Given the description of an element on the screen output the (x, y) to click on. 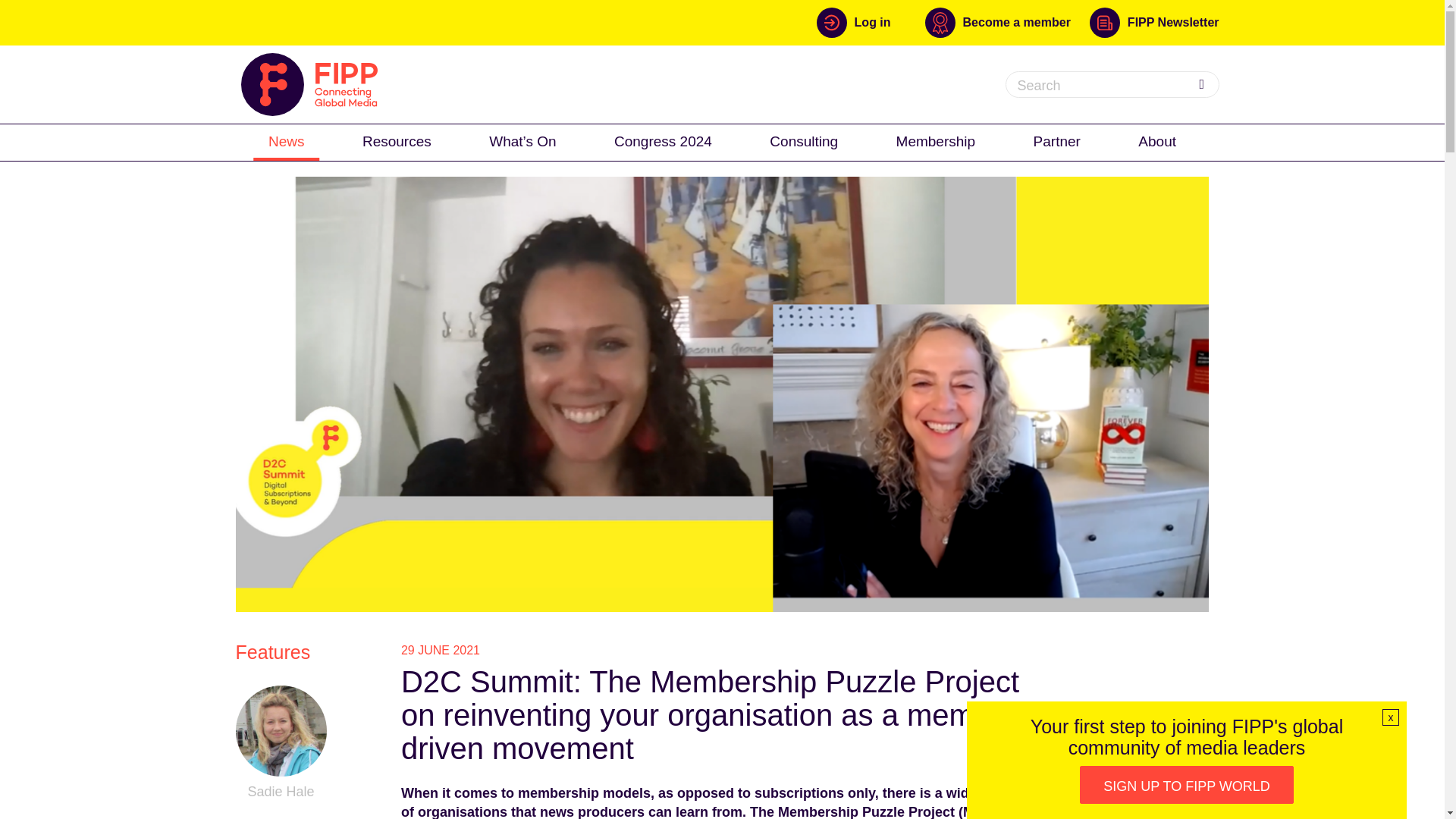
Consulting (803, 141)
About (1156, 141)
Features (273, 651)
Membership (935, 141)
FIPP Newsletter (1154, 22)
Partner (1056, 141)
Congress 2024 (662, 141)
News (286, 141)
Resources (396, 141)
Become a member (1006, 22)
